Given the description of an element on the screen output the (x, y) to click on. 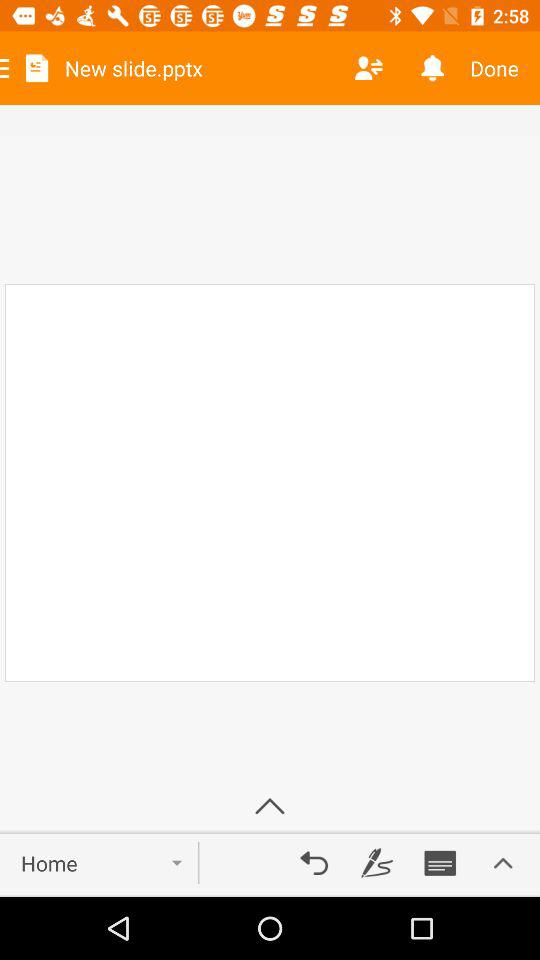
write note (377, 863)
